Given the description of an element on the screen output the (x, y) to click on. 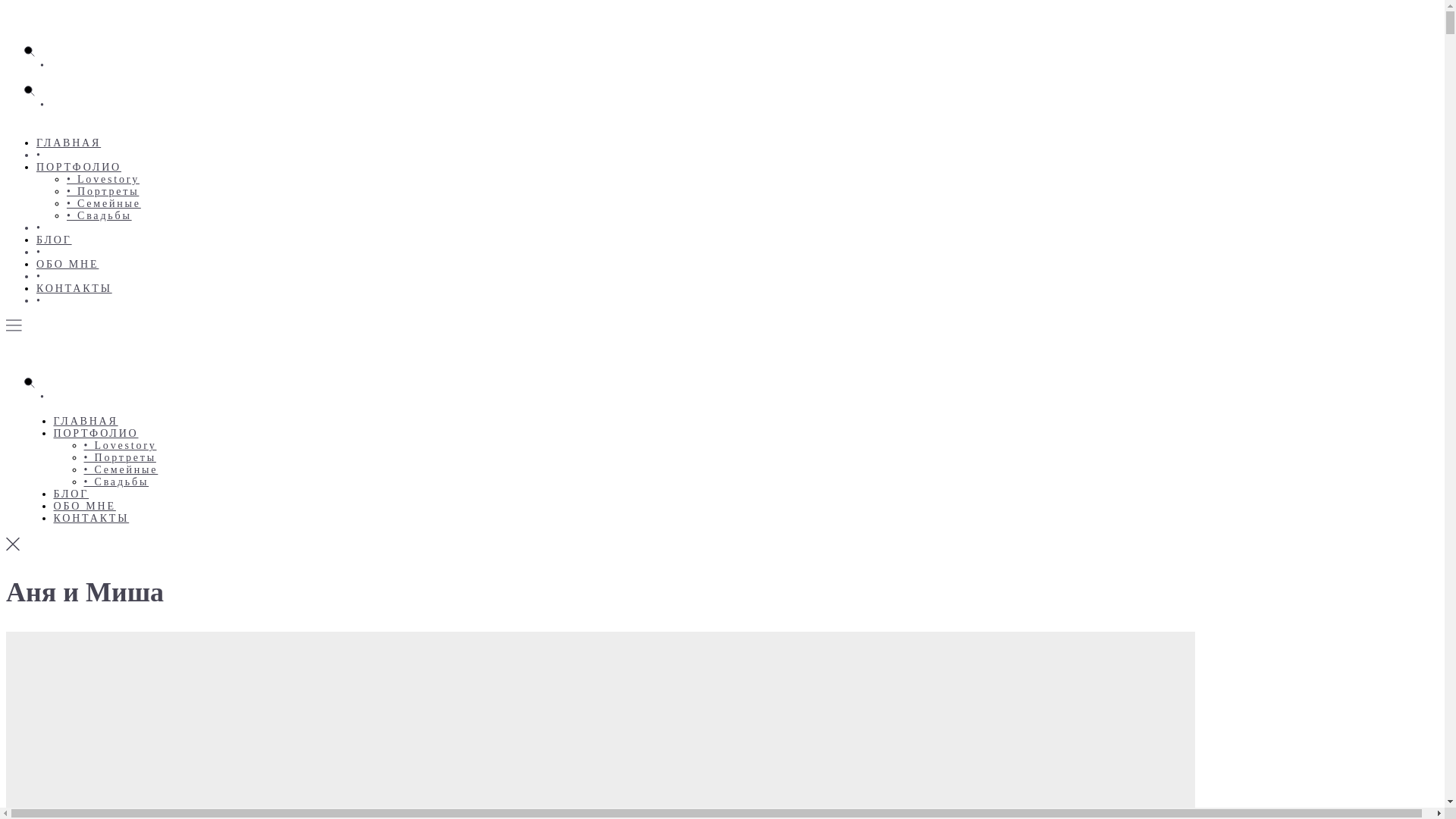
alexandralotts Element type: hover (6, 121)
